Given the description of an element on the screen output the (x, y) to click on. 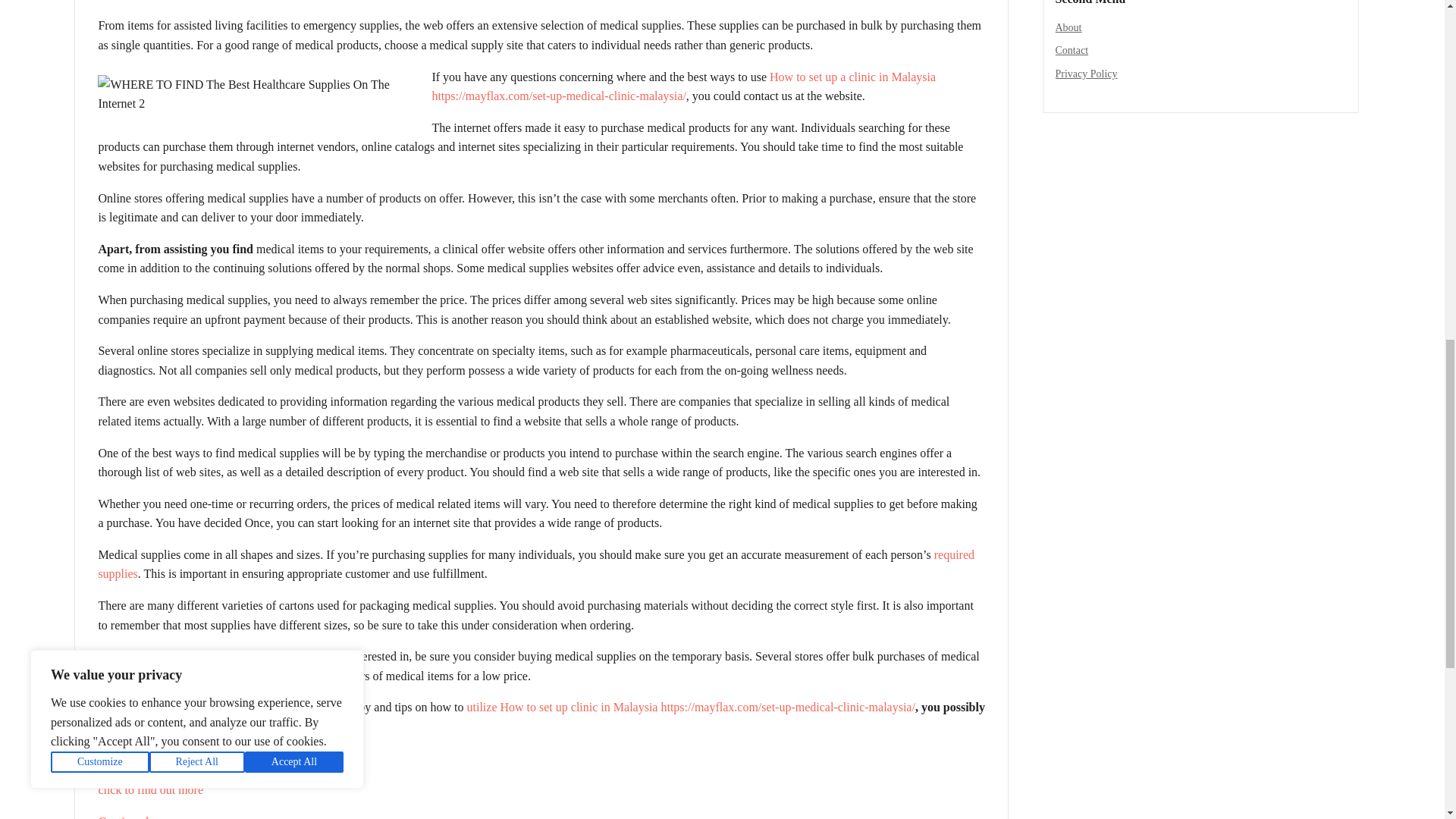
utilize (482, 707)
admin (119, 0)
click to find out more (150, 789)
required supplies (535, 563)
Continued (122, 816)
